Given the description of an element on the screen output the (x, y) to click on. 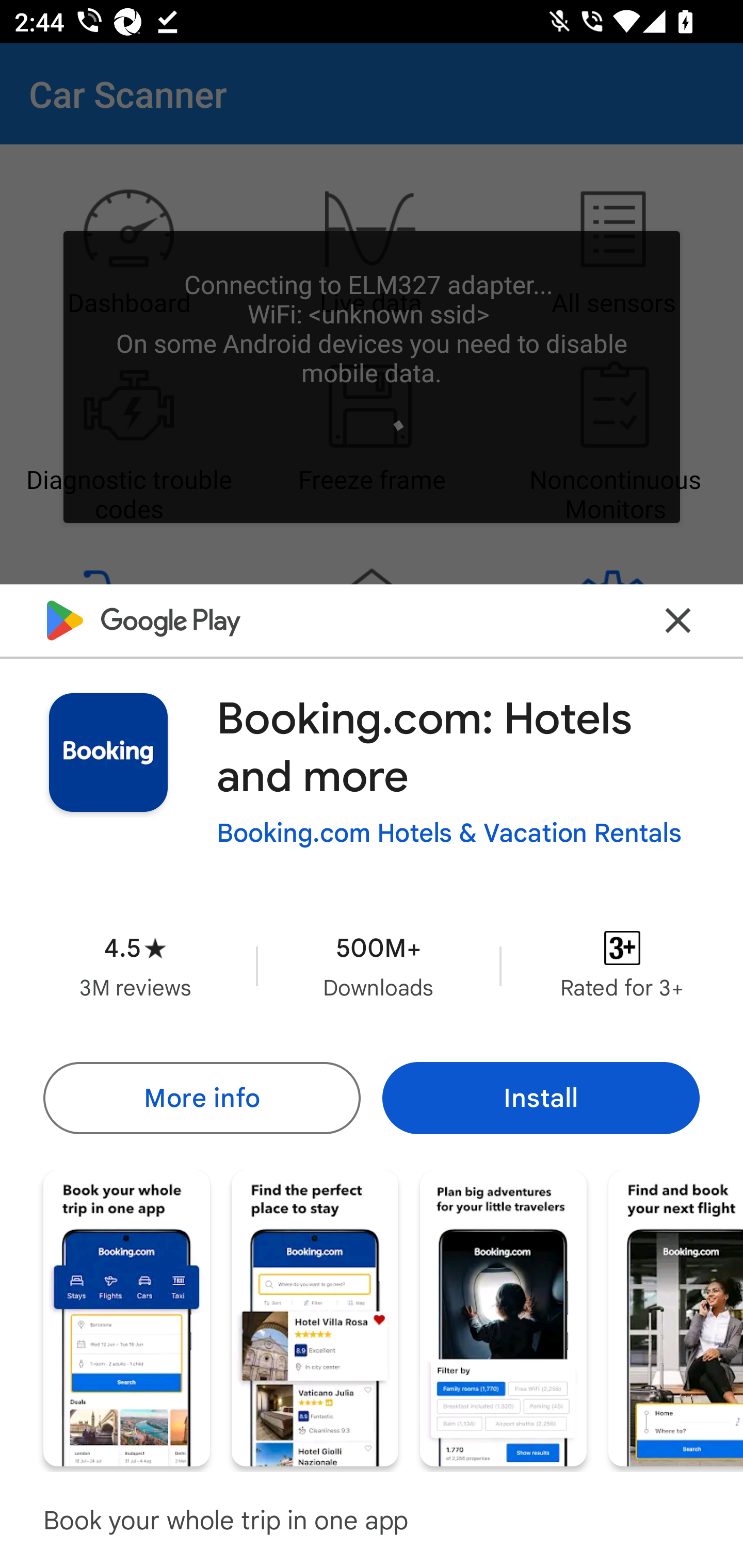
Close (677, 620)
Booking.com Hotels & Vacation Rentals (448, 832)
More info (201, 1097)
Install (540, 1097)
Screenshot "1" of "8" (126, 1317)
Screenshot "2" of "8" (314, 1317)
Screenshot "3" of "8" (502, 1317)
Screenshot "4" of "8" (675, 1317)
